Given the description of an element on the screen output the (x, y) to click on. 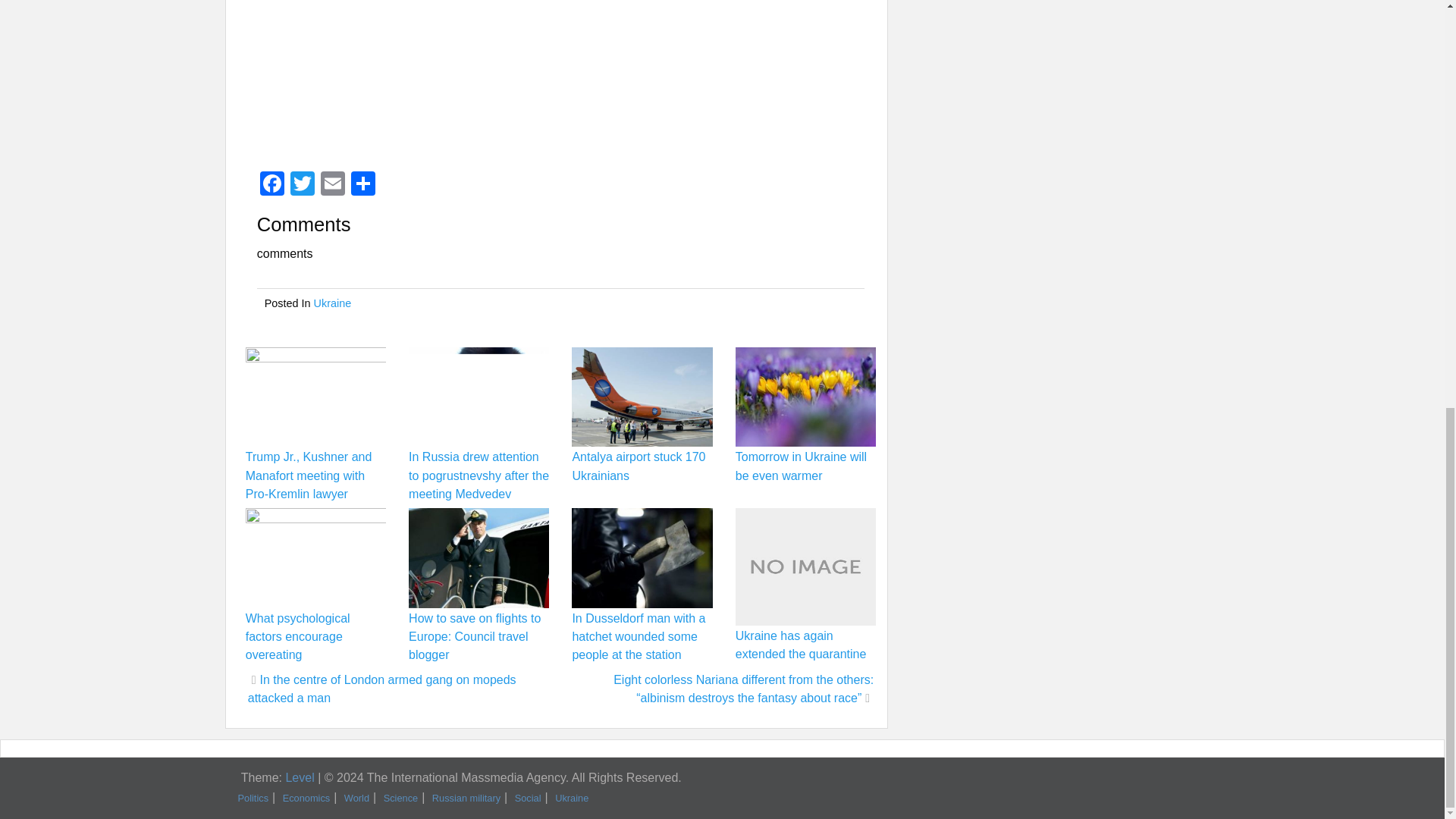
Facebook (271, 185)
Twitter (301, 185)
Twitter (301, 185)
Antalya airport stuck 170 Ukrainians (638, 465)
Ukraine (333, 303)
Share (362, 185)
Tomorrow in Ukraine will be even warmer (800, 465)
Antalya airport stuck 170 Ukrainians (638, 465)
Facebook (271, 185)
How to save on flights to Europe: Council travel blogger (474, 635)
What psychological factors encourage overeating (298, 635)
